Given the description of an element on the screen output the (x, y) to click on. 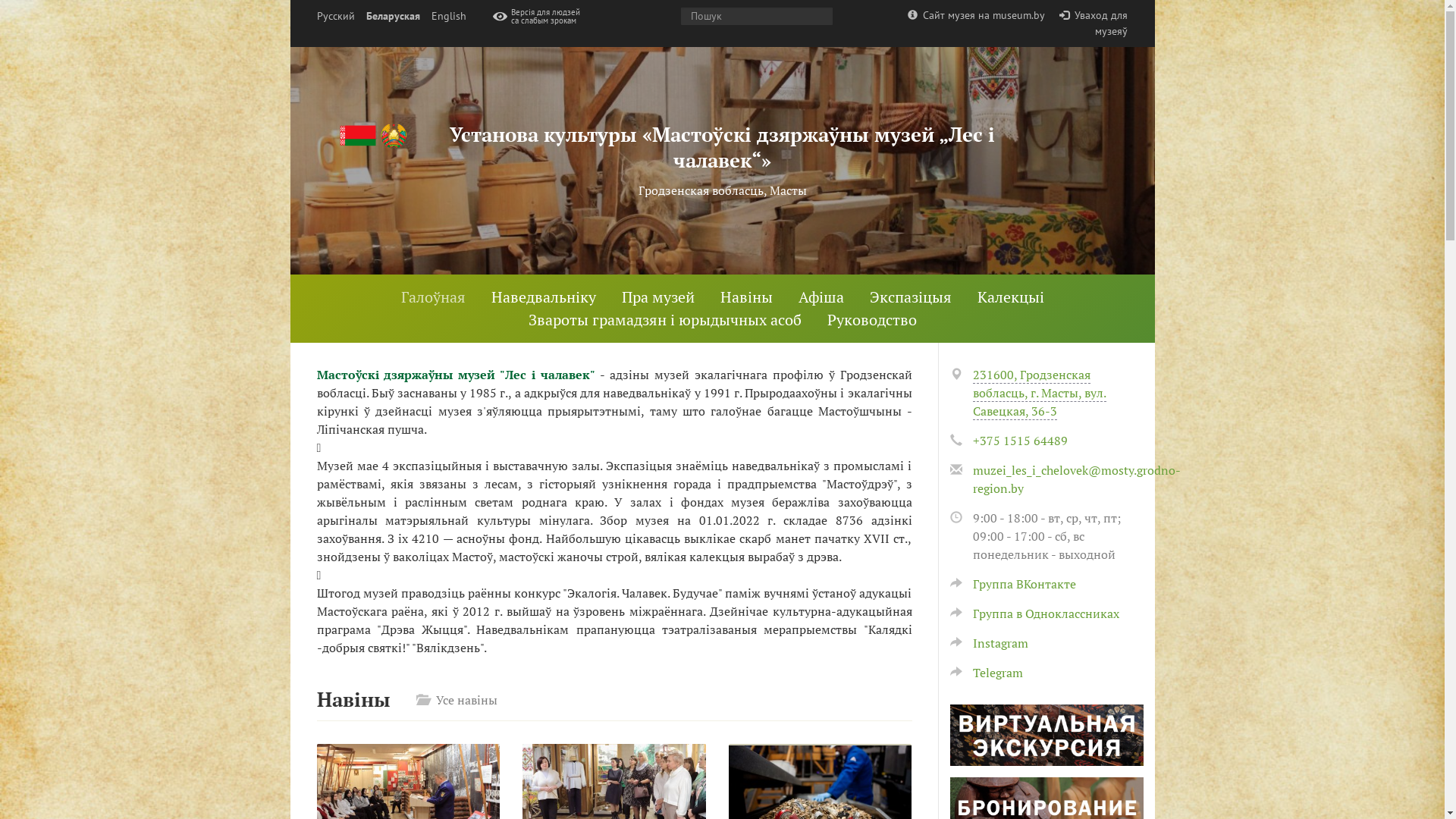
+375 1515 64489 Element type: text (1019, 440)
muzei_les_i_chelovek@mosty.grodno-region.by Element type: text (1075, 478)
English Element type: text (447, 16)
Instagram Element type: text (988, 642)
Telegram Element type: text (985, 672)
